Given the description of an element on the screen output the (x, y) to click on. 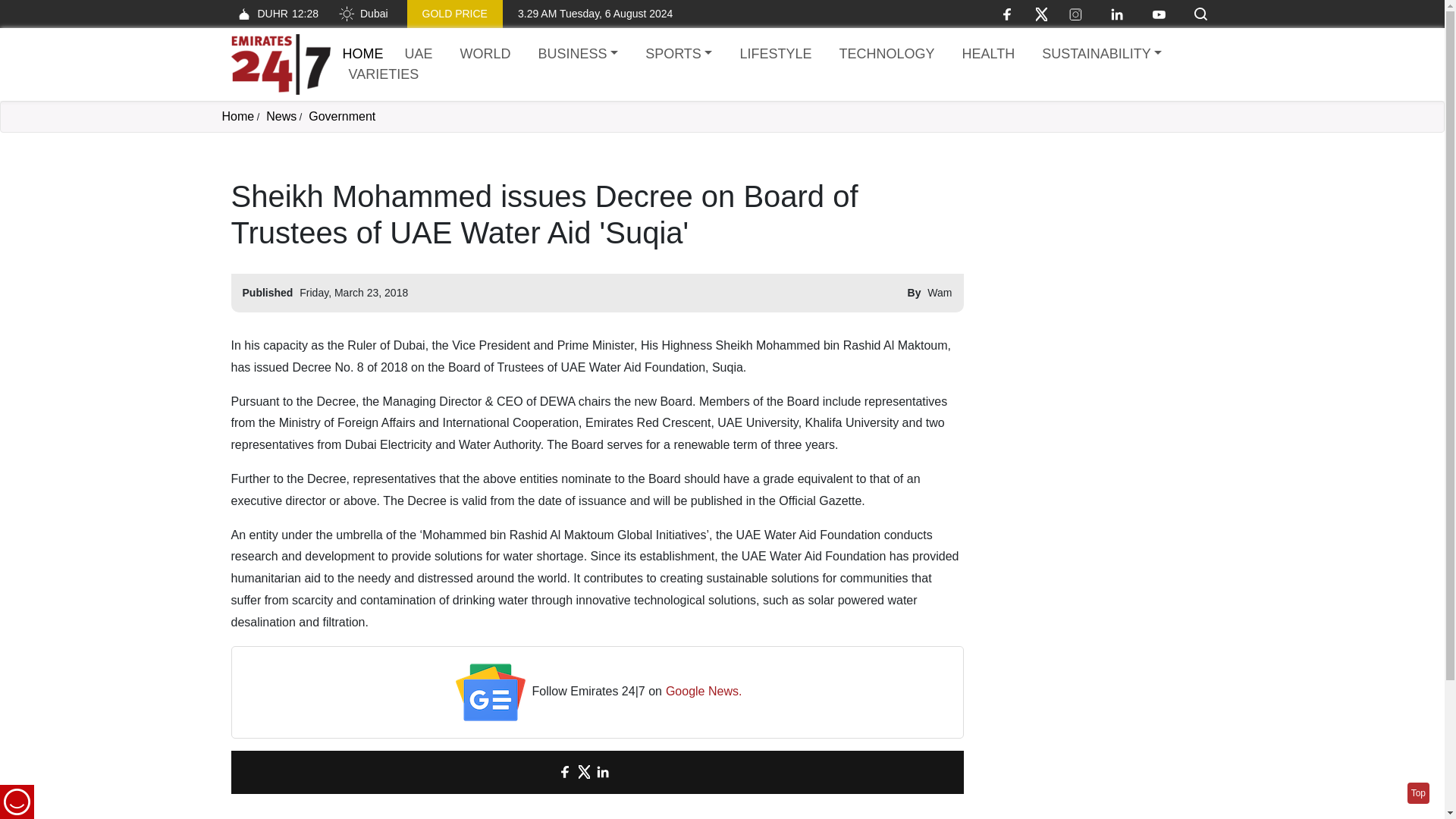
News (281, 115)
Home (237, 115)
BUSINESS (578, 54)
Go to top (1418, 792)
HEALTH (987, 54)
LIFESTYLE (774, 54)
TECHNOLOGY (886, 54)
Home (363, 53)
WORLD (485, 54)
Google News. (703, 691)
